Given the description of an element on the screen output the (x, y) to click on. 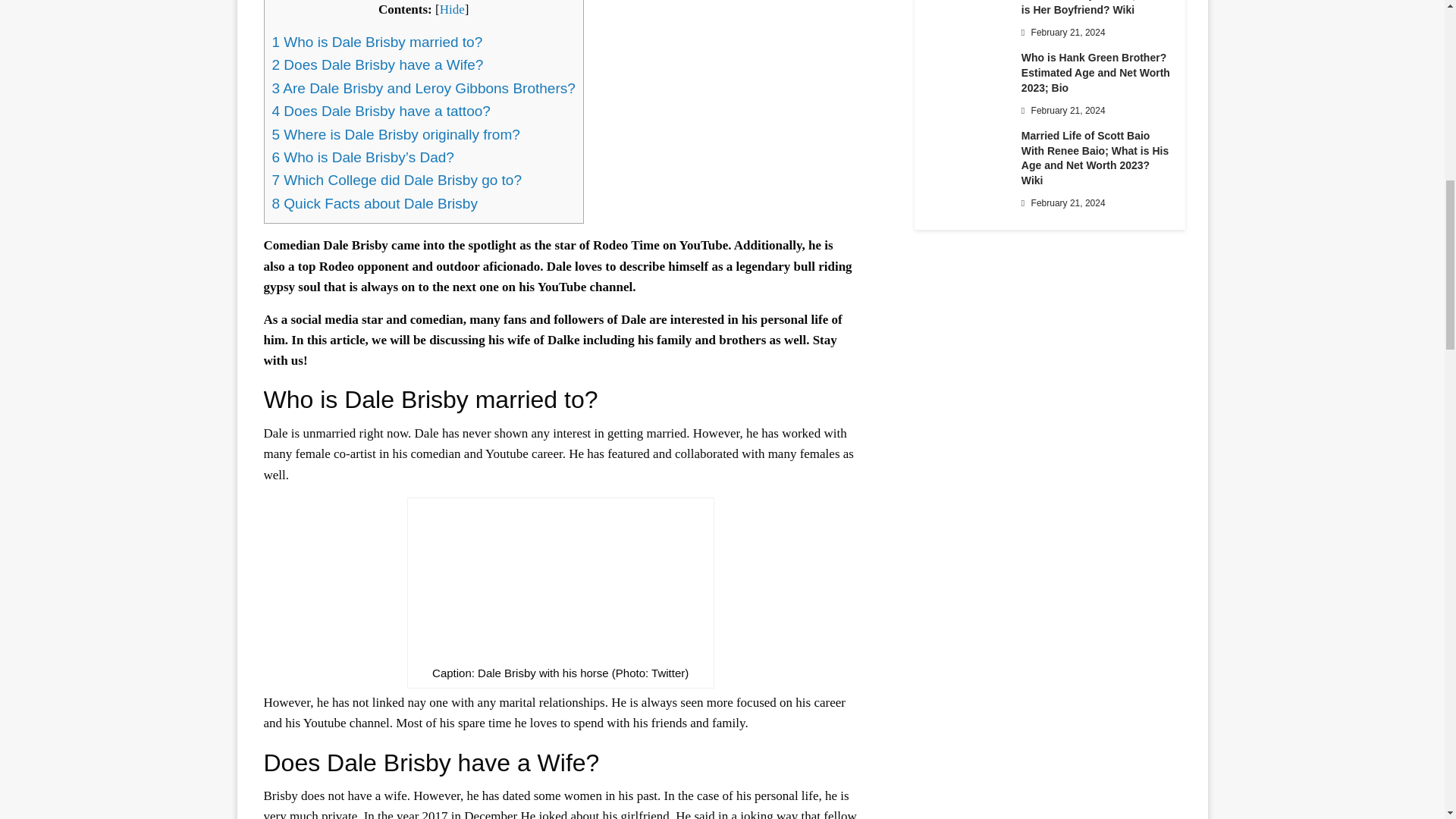
5 Where is Dale Brisby originally from? (394, 134)
4 Does Dale Brisby have a tattoo? (379, 110)
7 Which College did Dale Brisby go to? (395, 179)
Hide (451, 9)
2 Does Dale Brisby have a Wife? (376, 64)
1 Who is Dale Brisby married to? (375, 41)
3 Are Dale Brisby and Leroy Gibbons Brothers? (422, 88)
